Given the description of an element on the screen output the (x, y) to click on. 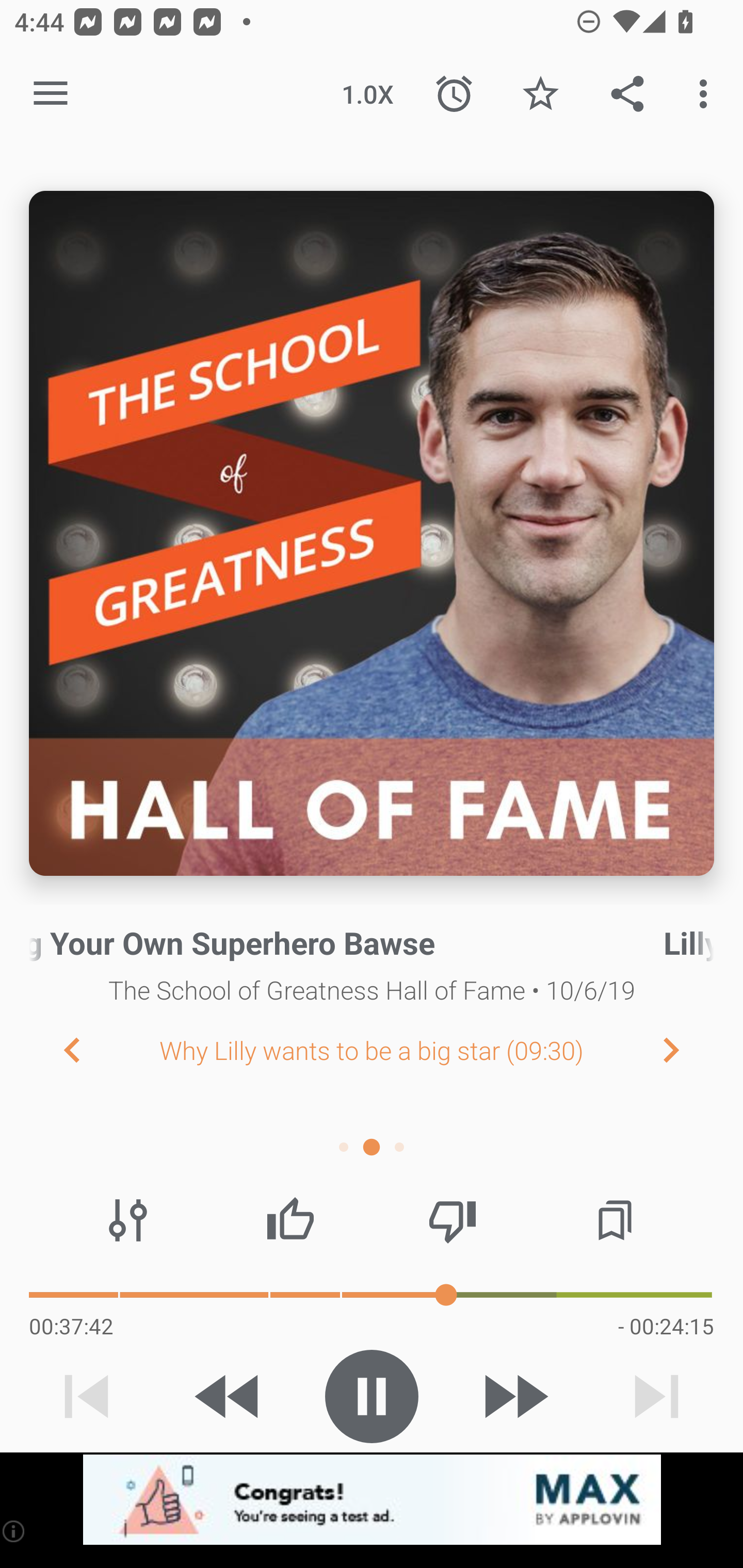
Open navigation sidebar (50, 93)
1.0X (366, 93)
Sleep Timer (453, 93)
Favorite (540, 93)
Share (626, 93)
More options (706, 93)
Episode description (371, 533)
Previous Chapter (56, 1049)
Next Chapter (686, 1049)
Why Lilly wants to be a big star (09:30) (371, 1050)
Audio effects (127, 1220)
Thumbs up (290, 1220)
Thumbs down (452, 1220)
Chapters / Bookmarks (614, 1220)
- 00:24:15 (666, 1325)
Previous track (86, 1395)
Skip 15s backward (228, 1395)
Play / Pause (371, 1395)
Skip 30s forward (513, 1395)
Next track (656, 1395)
app-monetization (371, 1500)
(i) (14, 1531)
